Given the description of an element on the screen output the (x, y) to click on. 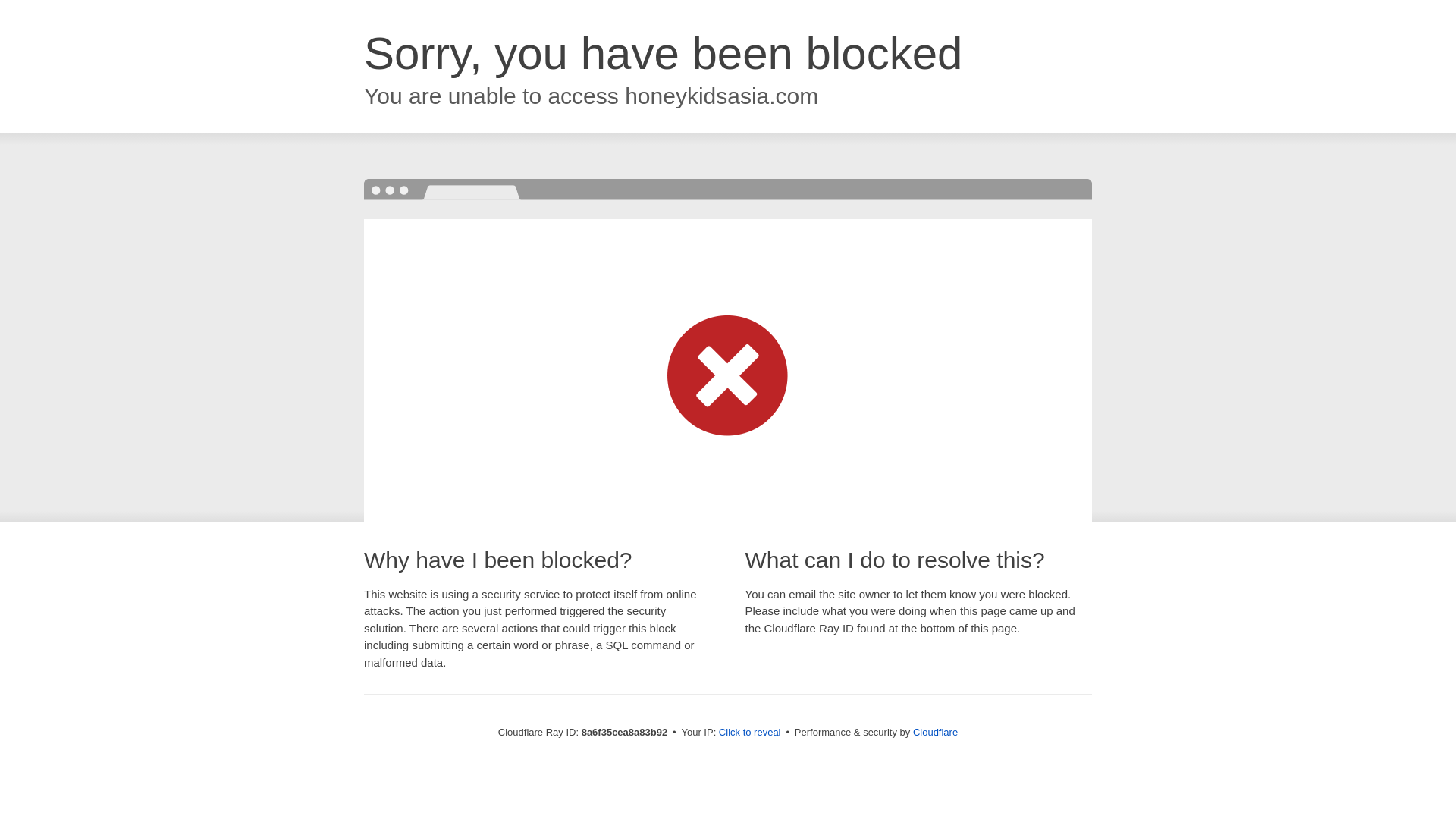
Click to reveal (749, 732)
Cloudflare (935, 731)
